Given the description of an element on the screen output the (x, y) to click on. 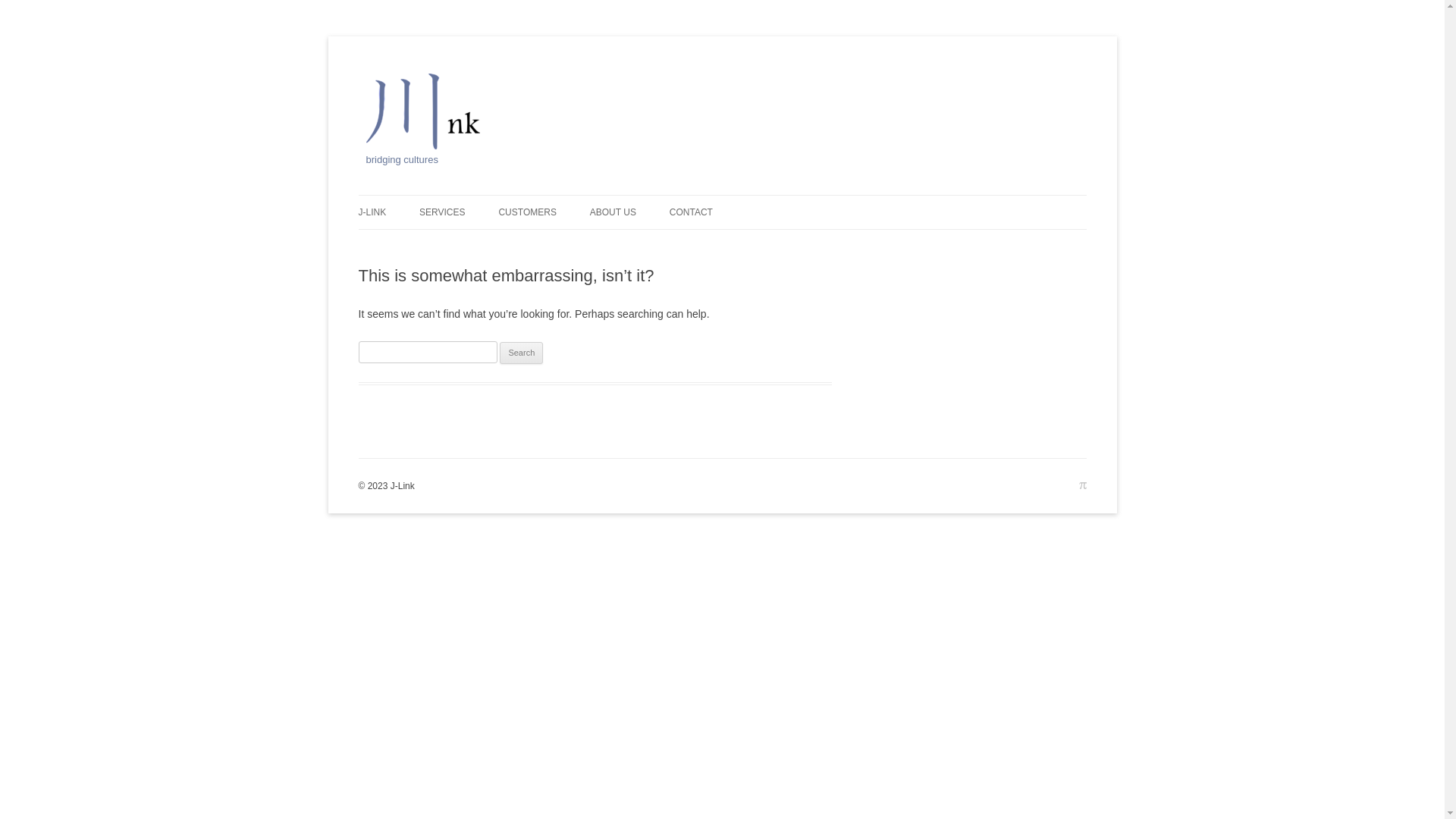
Skip to content Element type: text (721, 194)
J-LINK Element type: text (371, 212)
SERVICES Element type: text (441, 212)
Search Element type: text (520, 353)
CONTACT Element type: text (690, 212)
CUSTOMERS Element type: text (526, 212)
ABOUT US Element type: text (612, 212)
